Given the description of an element on the screen output the (x, y) to click on. 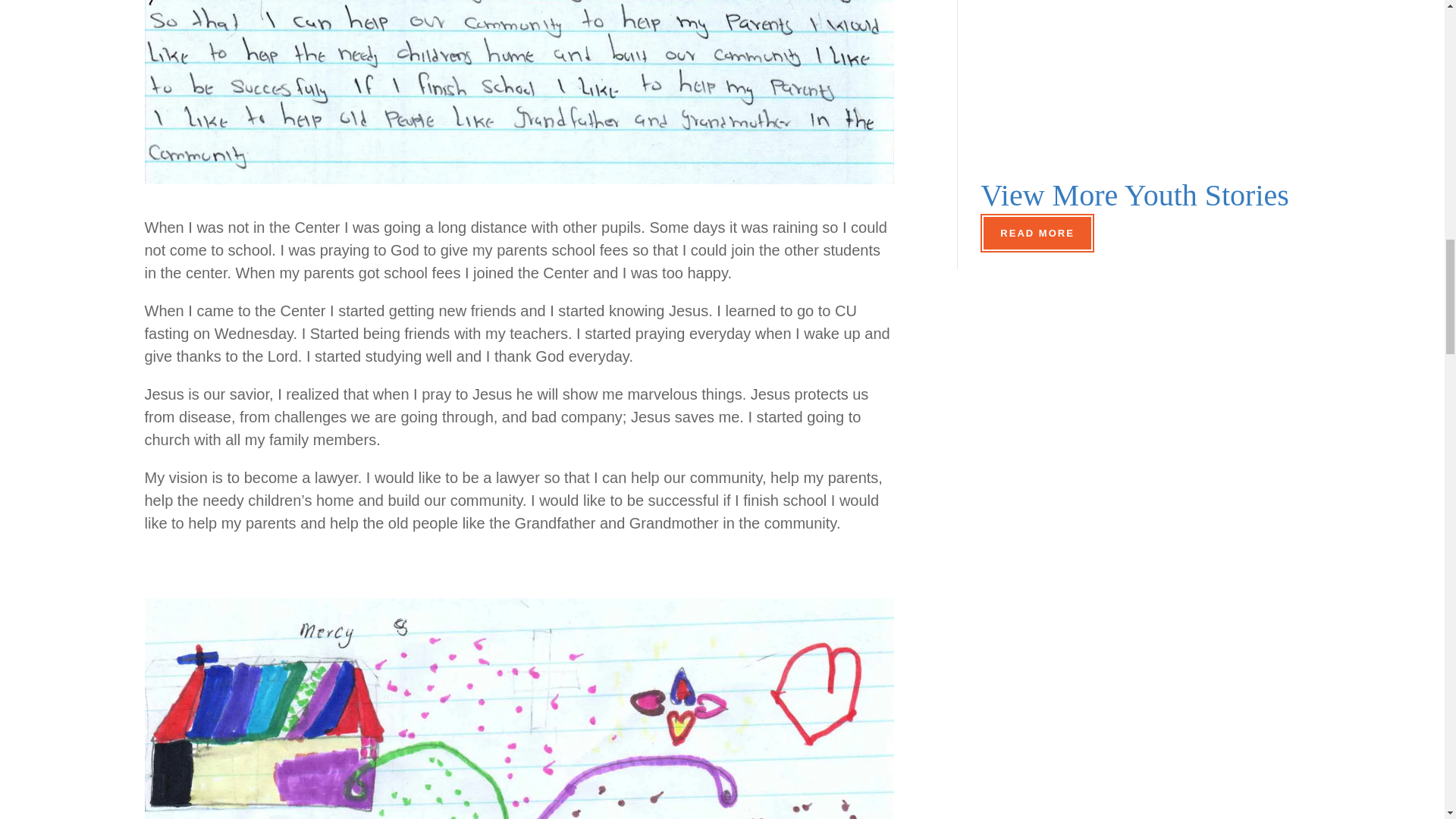
READ MORE (1036, 232)
